Given the description of an element on the screen output the (x, y) to click on. 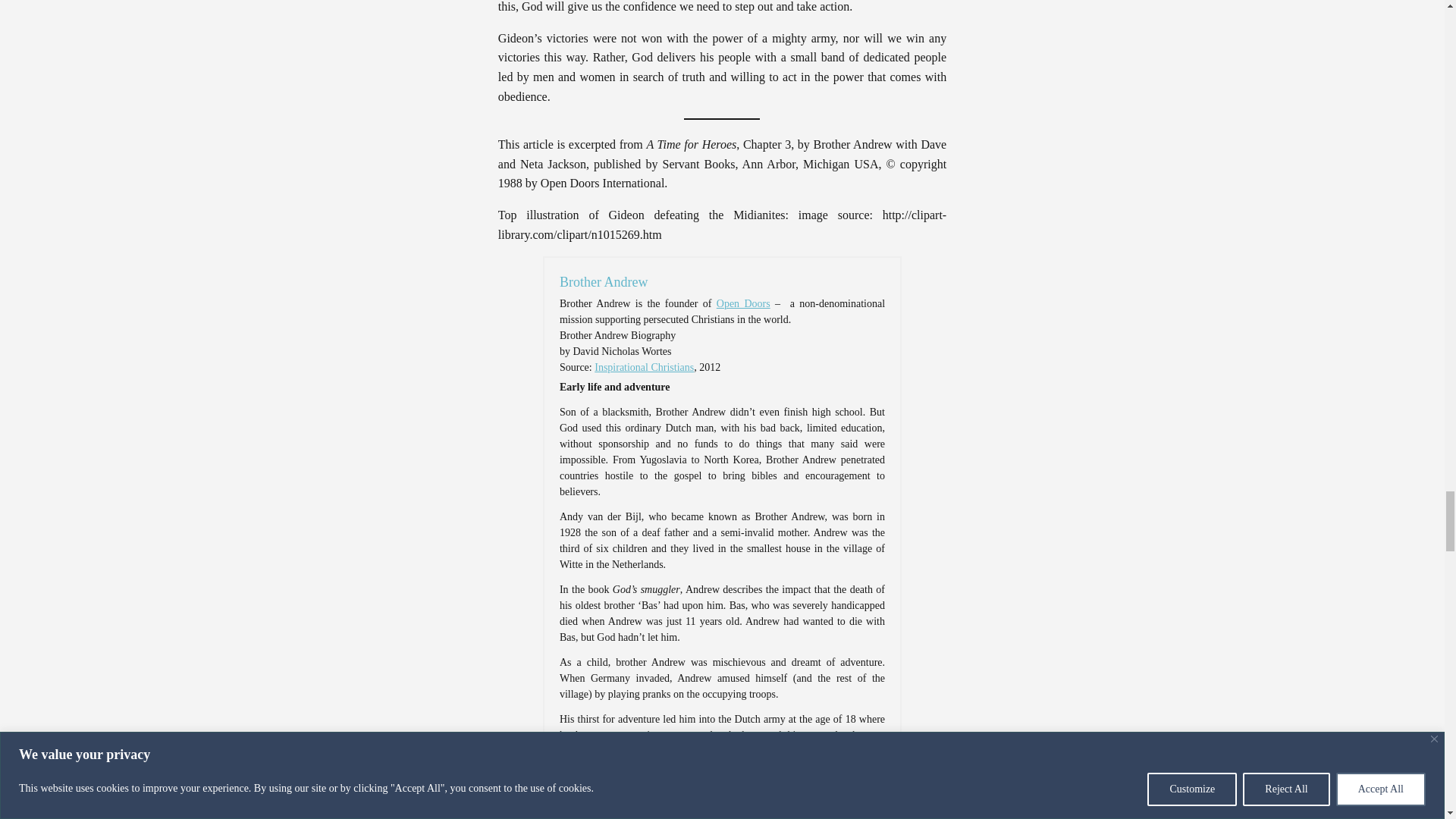
Inspirational Christians (644, 367)
Brother Andrew (603, 281)
Open Doors (743, 303)
